Given the description of an element on the screen output the (x, y) to click on. 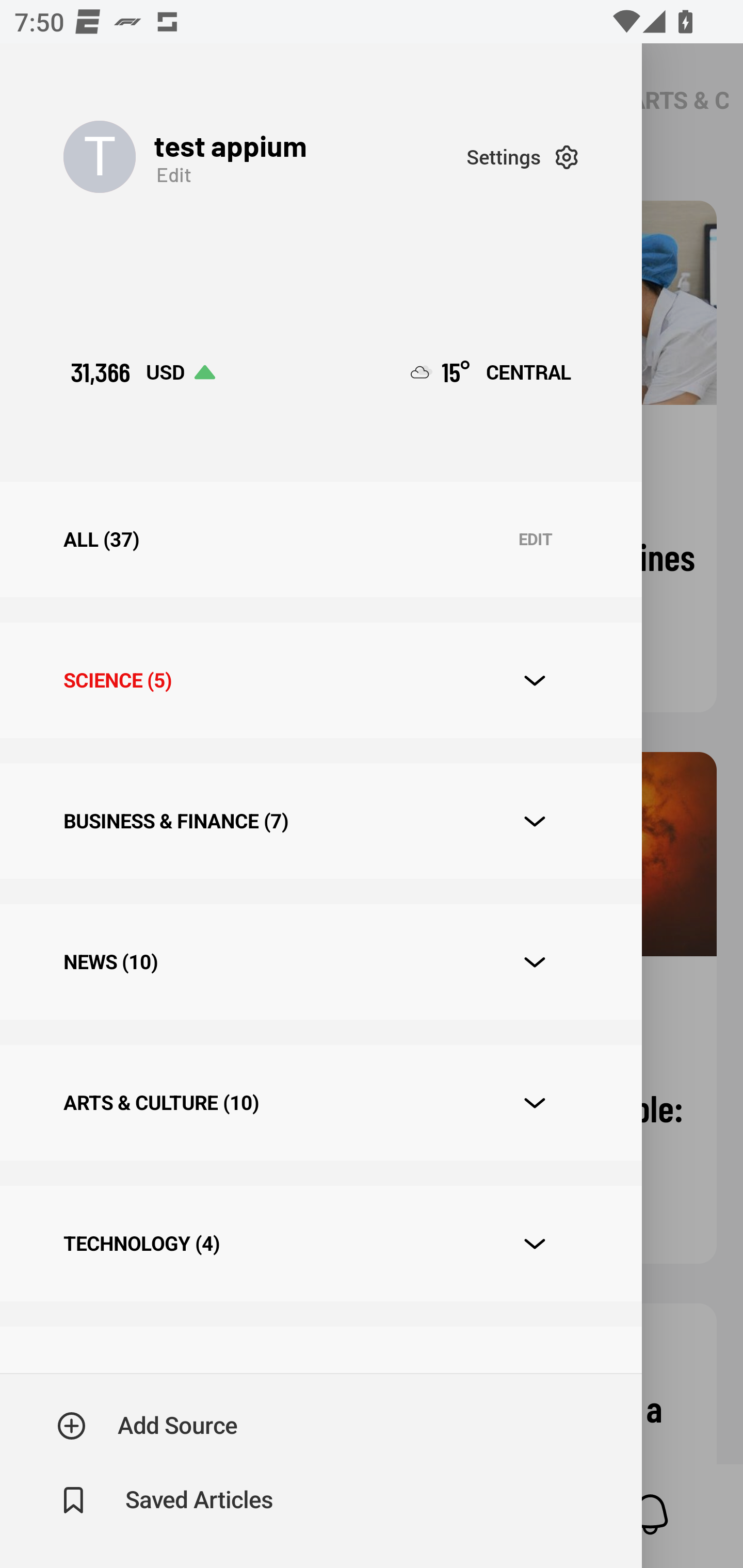
T test appium Edit (264, 156)
Settings Select News Style (522, 156)
31,366 USD Current State of the Currency (142, 372)
Current State of the Weather 15° CENTRAL (490, 372)
ALL  (37) EDIT (320, 539)
EDIT (534, 540)
SCIENCE  (5) Expand Button (320, 680)
Expand Button (534, 681)
BUSINESS & FINANCE  (7) Expand Button (320, 821)
Expand Button (534, 821)
NEWS  (10) Expand Button (320, 961)
Expand Button (534, 961)
ARTS & CULTURE  (10) Expand Button (320, 1102)
Expand Button (534, 1102)
TECHNOLOGY  (4) Expand Button (320, 1243)
Expand Button (534, 1244)
Open Content Store Add Source (147, 1425)
Open Saved News  Saved Articles (166, 1500)
